Given the description of an element on the screen output the (x, y) to click on. 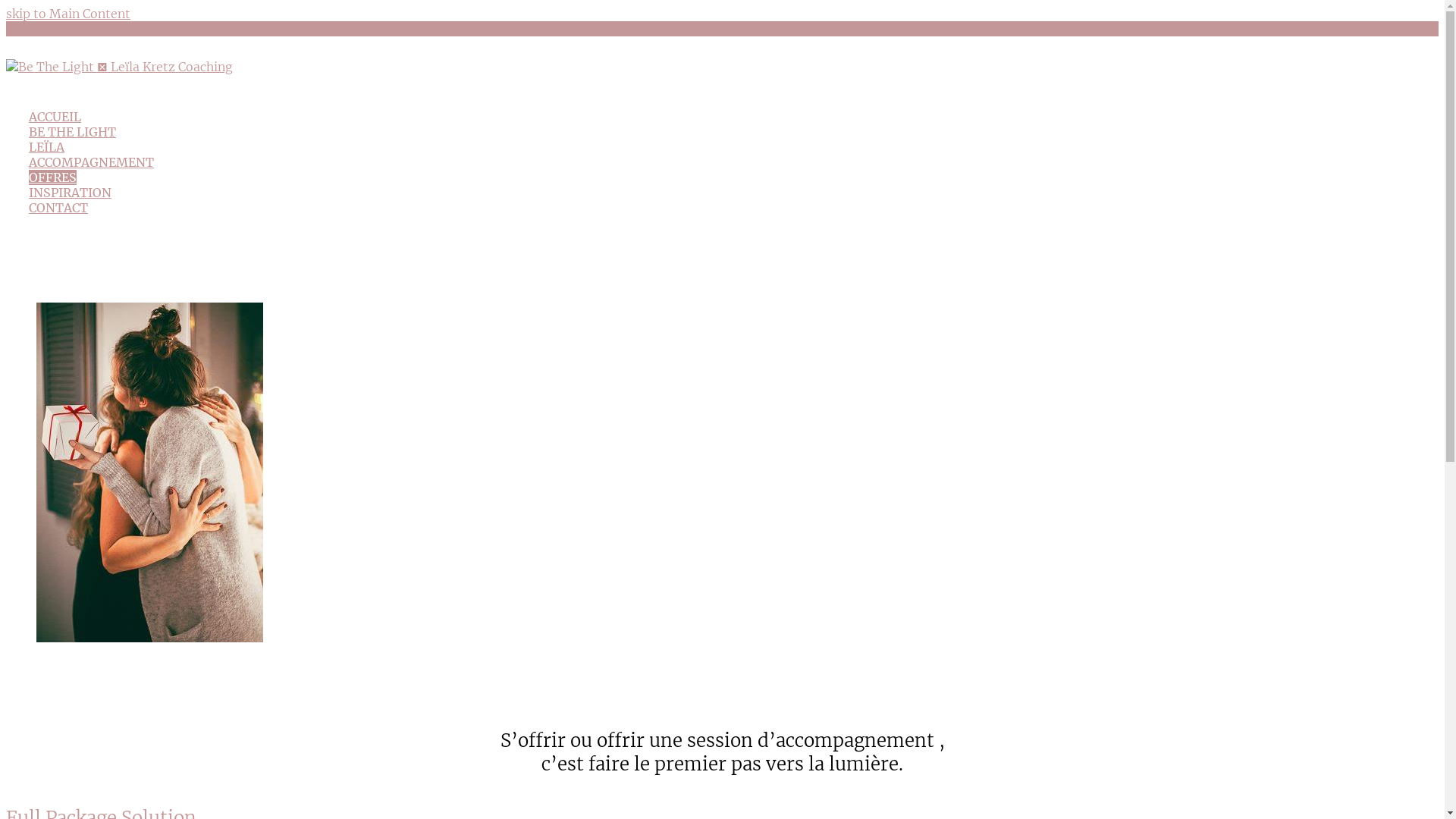
INSPIRATION Element type: text (69, 192)
ACCOMPAGNEMENT Element type: text (90, 161)
Menu Element type: text (23, 28)
BE THE LIGHT Element type: text (72, 131)
ACCUEIL Element type: text (54, 116)
OFFRES Element type: text (52, 177)
skip to Main Content Element type: text (68, 13)
CONTACT Element type: text (57, 207)
